Given the description of an element on the screen output the (x, y) to click on. 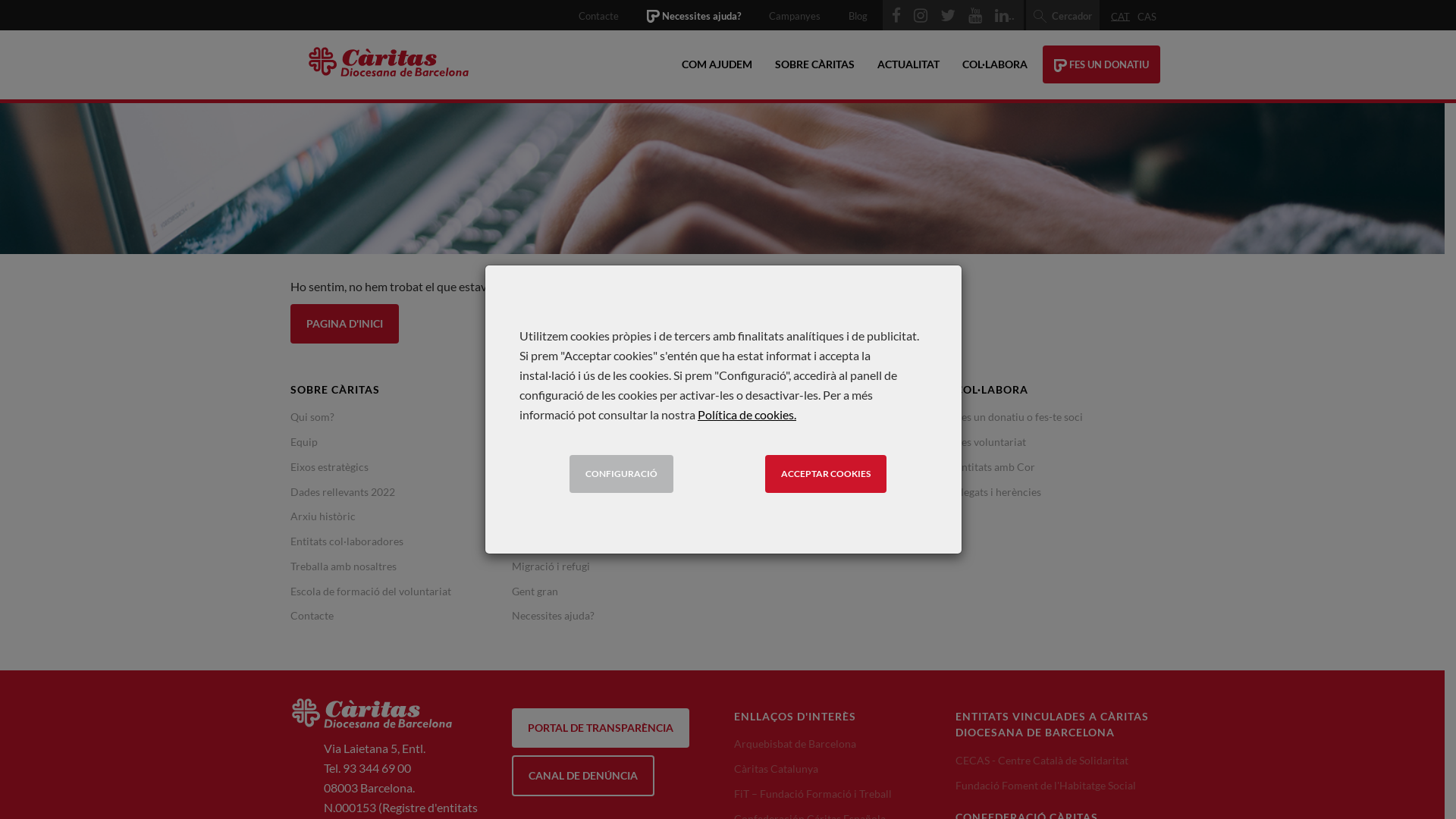
CAS Element type: text (1146, 16)
CAT Element type: text (1120, 16)
Equip Element type: text (302, 441)
Campanyes Element type: text (794, 15)
PAGINA D'INICI Element type: text (343, 323)
Fes un donatiu o fes-te soci Element type: text (1018, 416)
Cercador Element type: text (1062, 15)
Agenda Element type: text (751, 441)
Fes voluntariat Element type: text (990, 441)
Gent gran Element type: text (534, 590)
ACCEPTAR COOKIES Element type: text (824, 473)
93 344 69 00 Element type: text (376, 767)
.. Element type: text (1004, 15)
Dades rellevants 2022 Element type: text (341, 491)
Treballa amb nosaltres Element type: text (342, 565)
ACTUALITAT Element type: text (908, 64)
Acollida i acompanyament Element type: text (574, 441)
Coneix els nostres projectes Element type: text (577, 416)
FES UN DONATIU Element type: text (1101, 64)
Blog Element type: text (857, 15)
Contacte Element type: text (310, 614)
Necessites ajuda? Element type: text (552, 614)
COM AJUDEM Element type: text (716, 64)
Necessites ajuda? Element type: text (693, 15)
Entitats amb Cor Element type: text (995, 466)
Sense llar i habitatge Element type: text (559, 491)
Contacte Element type: text (598, 15)
Observatori de la Realitat Social Element type: text (809, 466)
Publicacions Element type: text (764, 416)
Arquebisbat de Barcelona Element type: text (795, 743)
Qui som? Element type: text (311, 416)
